Given the description of an element on the screen output the (x, y) to click on. 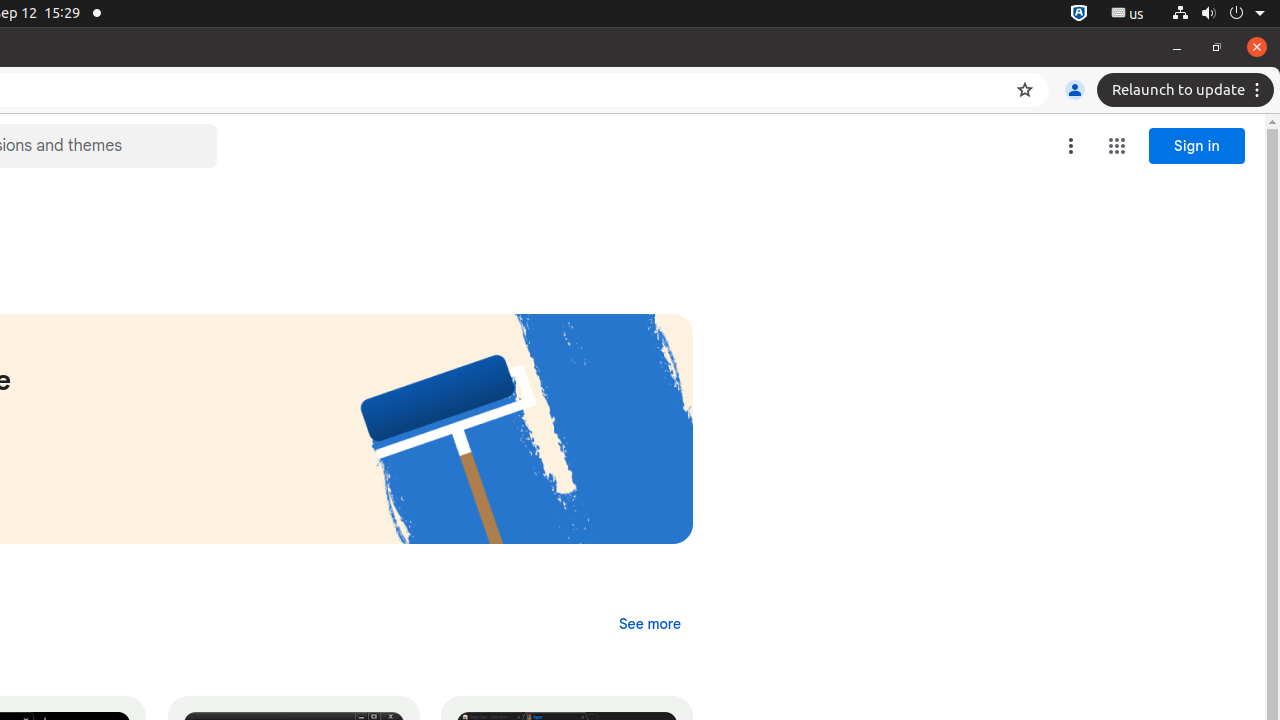
More options menu Element type: push-button (1071, 145)
Relaunch to update Element type: push-button (1188, 90)
Google apps Element type: push-button (1117, 145)
Bookmark this tab Element type: push-button (1025, 90)
You Element type: push-button (1075, 90)
